Given the description of an element on the screen output the (x, y) to click on. 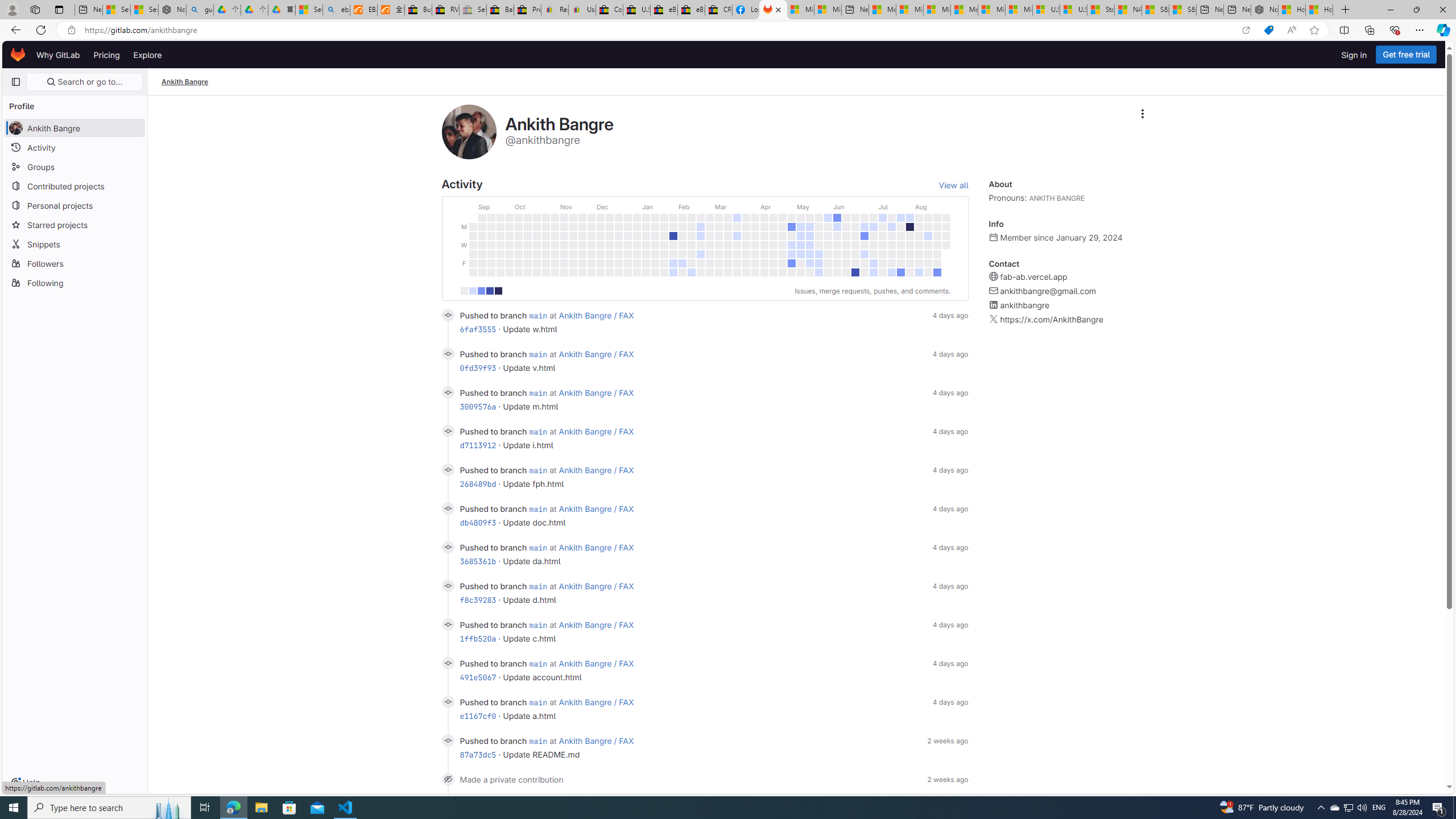
Followers (74, 262)
Class: contrib-calendar (704, 243)
AutomationID: dropdown-toggle-btn-16 (1141, 113)
Contributed projects (74, 185)
